Given the description of an element on the screen output the (x, y) to click on. 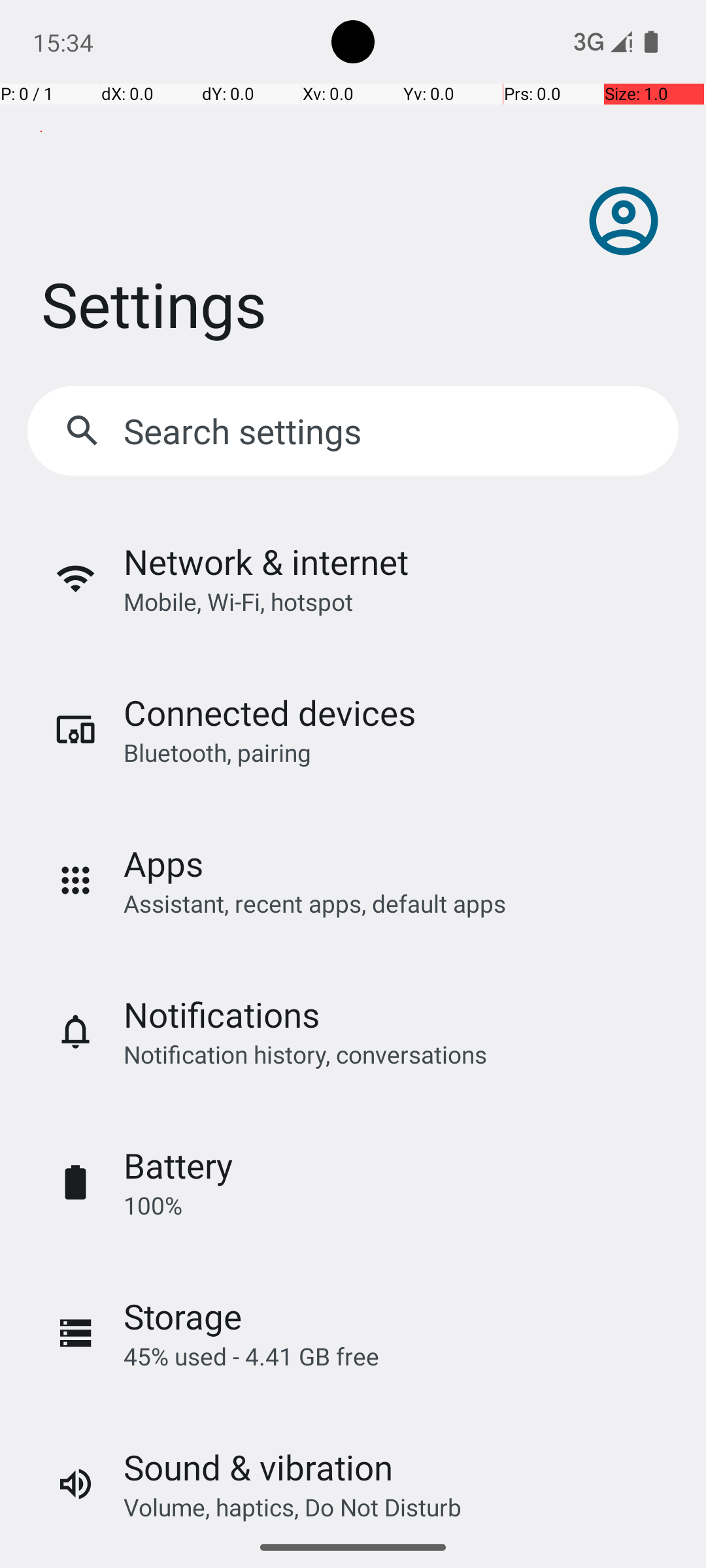
45% used - 4.41 GB free Element type: android.widget.TextView (251, 1355)
